Given the description of an element on the screen output the (x, y) to click on. 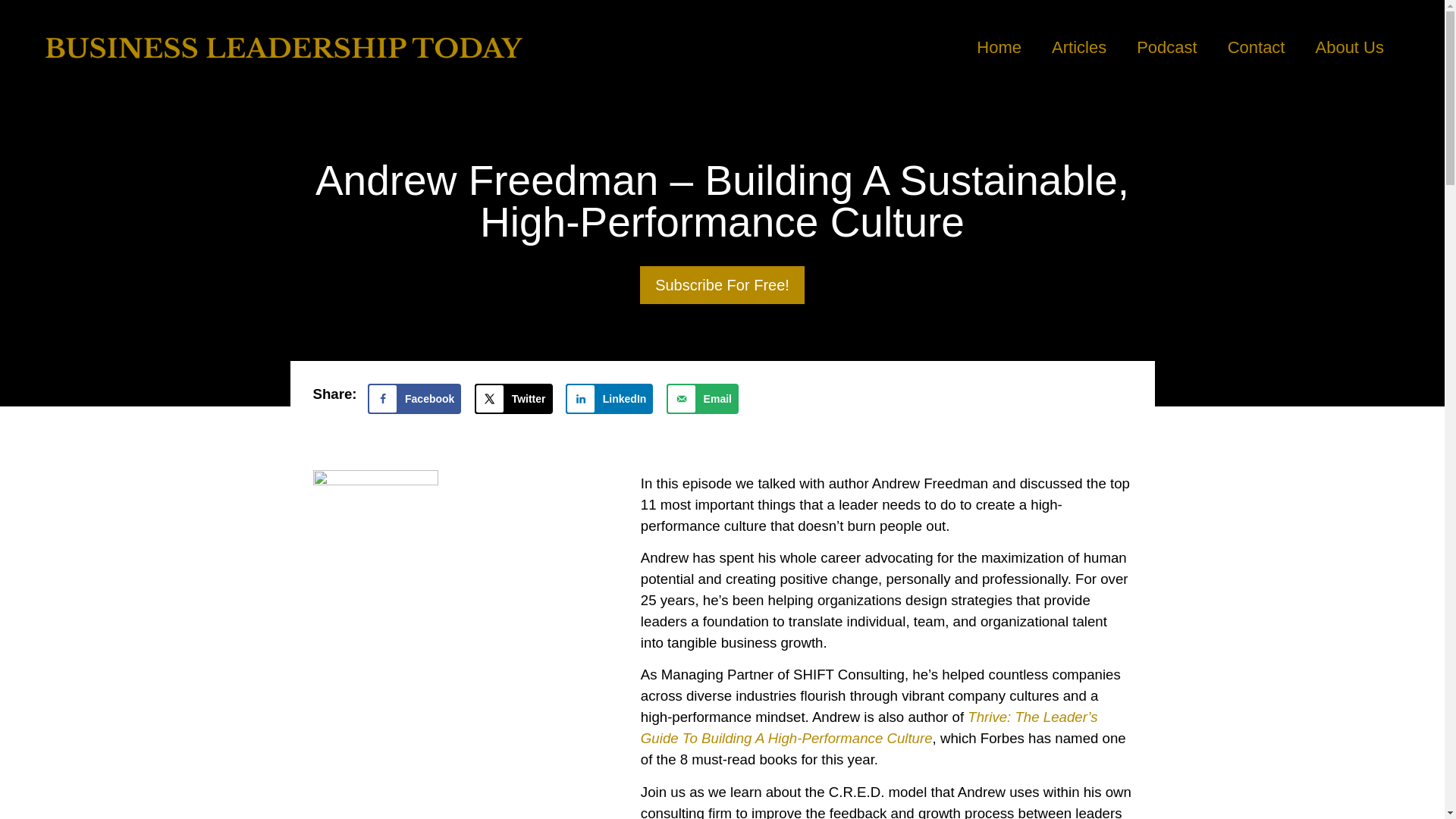
Home (998, 47)
Share on X (513, 399)
Subscribe For Free! (722, 284)
Facebook (414, 399)
About Us (1349, 47)
Contact (1256, 47)
Send over email (702, 399)
Articles (1078, 47)
Share on Facebook (414, 399)
Email (702, 399)
Podcast (1166, 47)
LinkedIn (609, 399)
Twitter (513, 399)
Share on LinkedIn (609, 399)
